Given the description of an element on the screen output the (x, y) to click on. 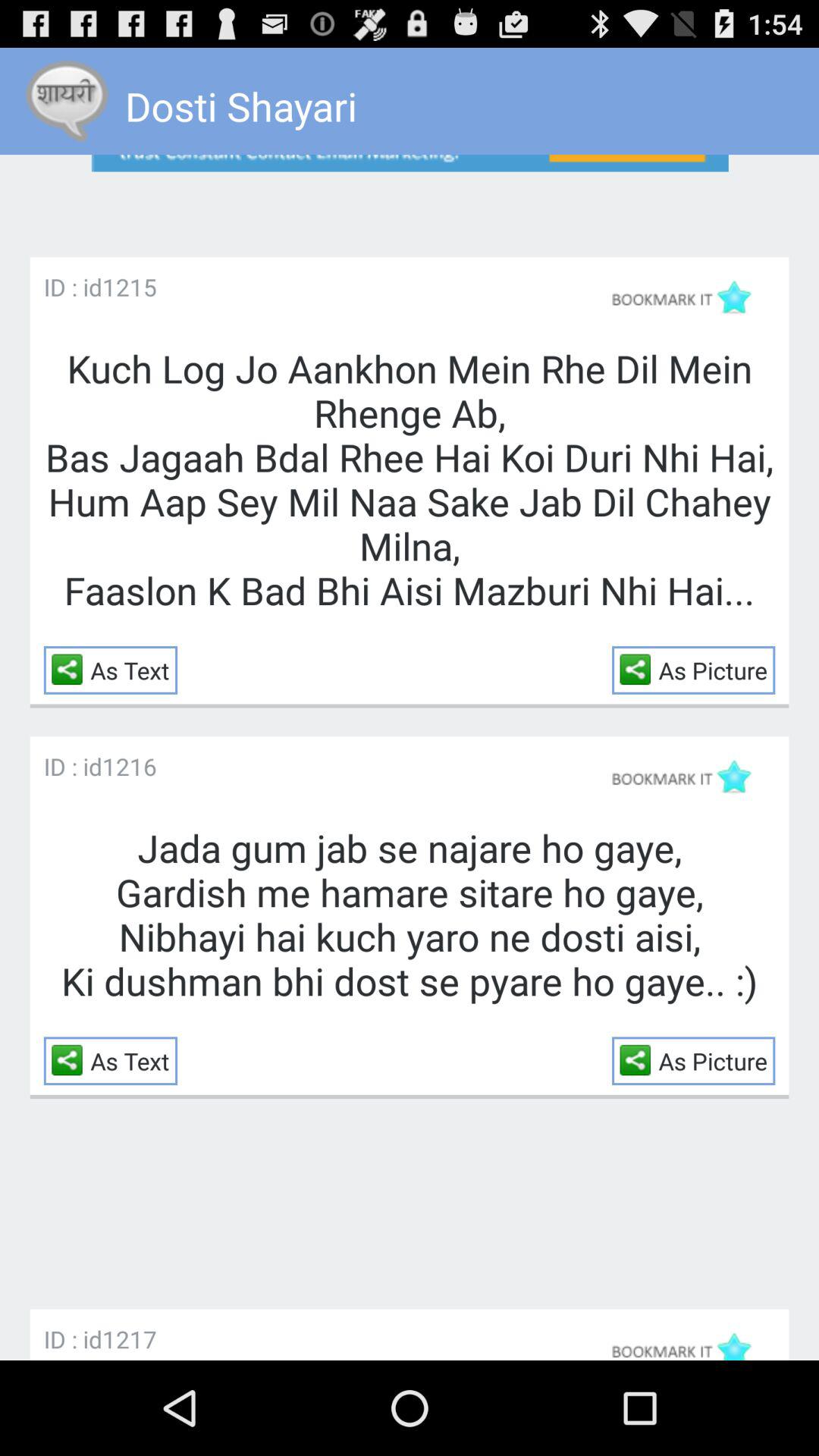
open the app to the right of the id : id app (129, 286)
